Given the description of an element on the screen output the (x, y) to click on. 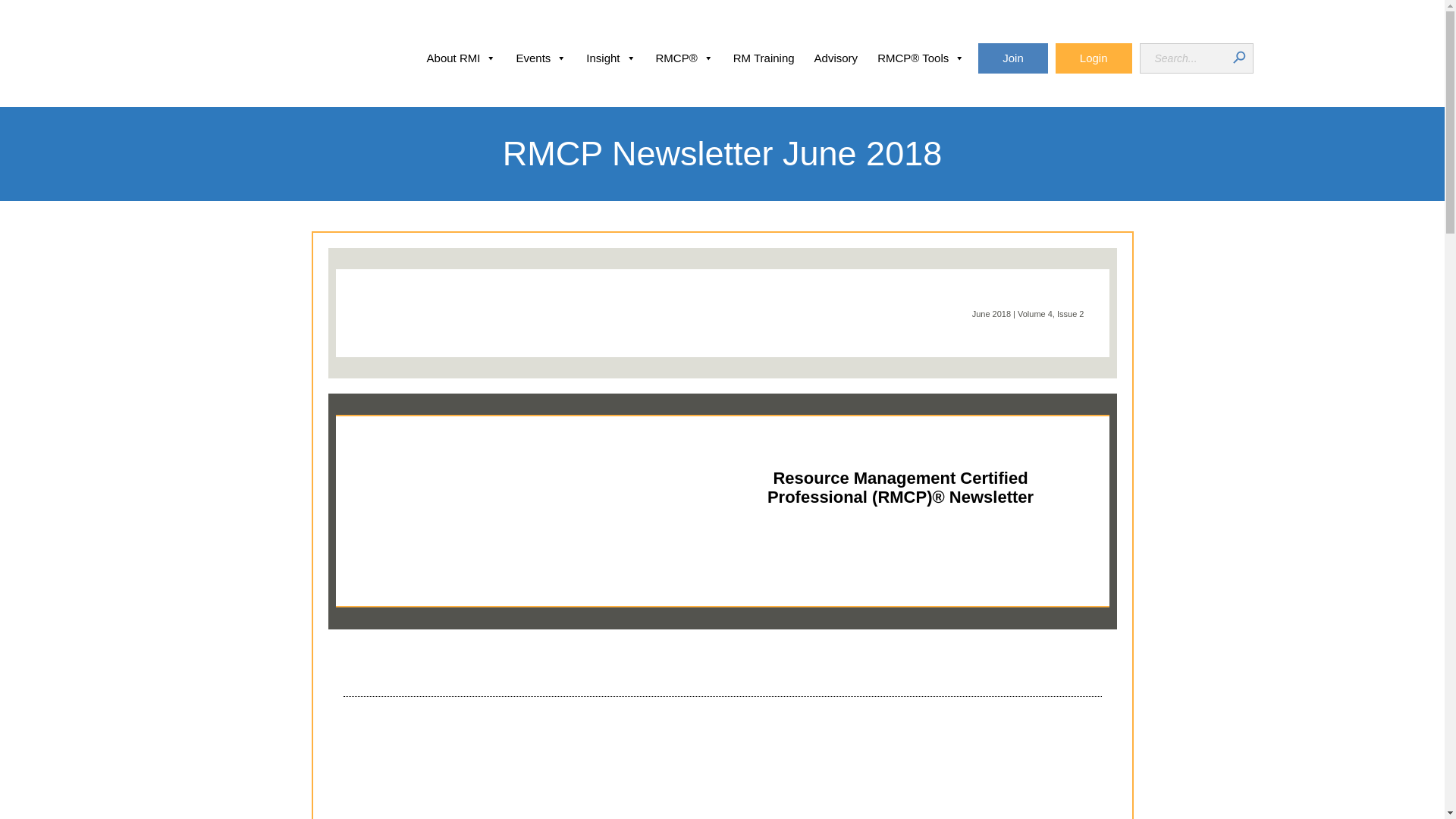
Insight (610, 58)
RM Training (763, 58)
Join (1013, 58)
Advisory (836, 58)
About RMI (461, 58)
Events (540, 58)
